Given the description of an element on the screen output the (x, y) to click on. 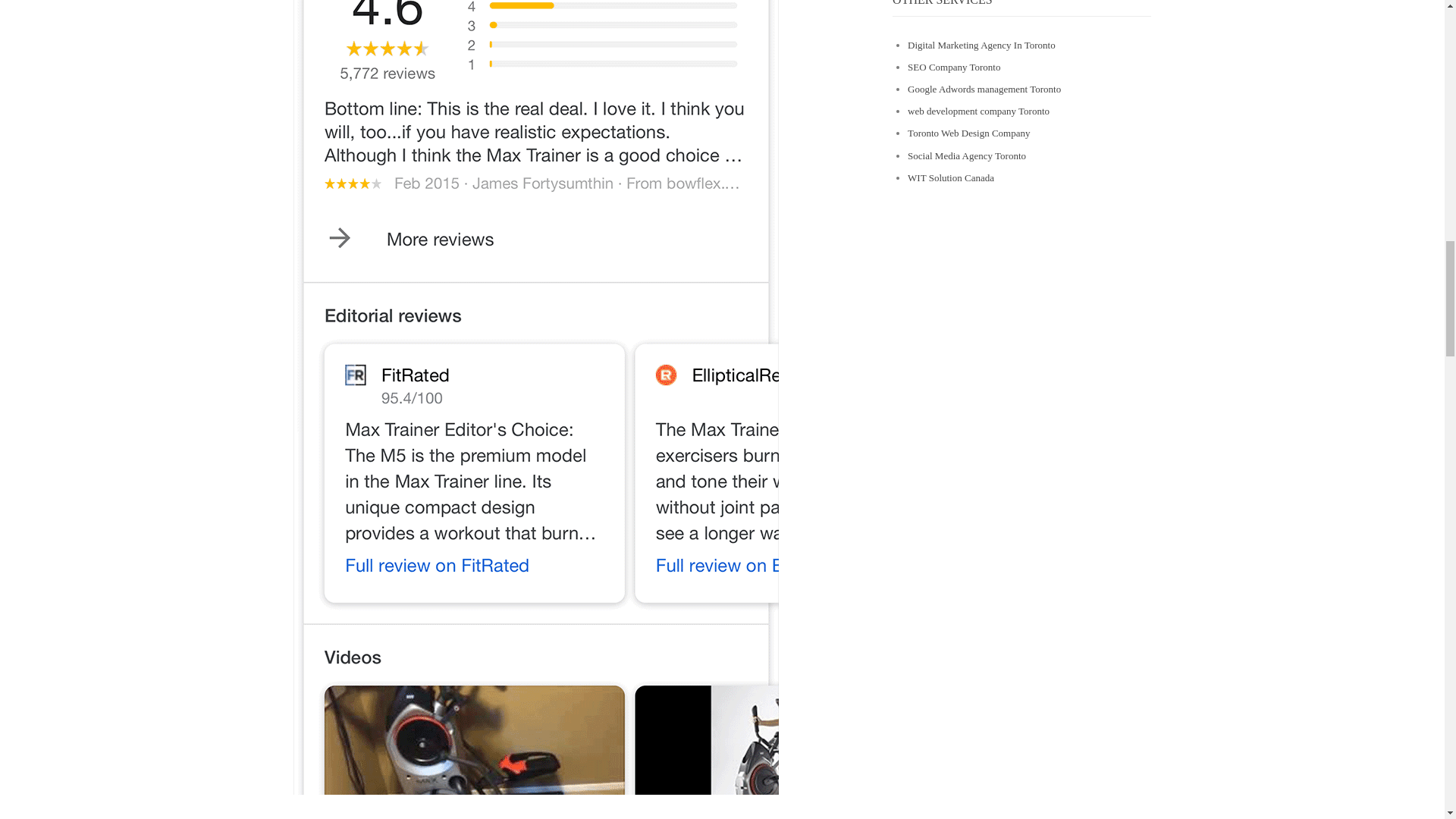
SEO Company Toronto (953, 66)
Digital Marketing Agency In Toronto (981, 44)
Google Adwords management Toronto (984, 89)
